Given the description of an element on the screen output the (x, y) to click on. 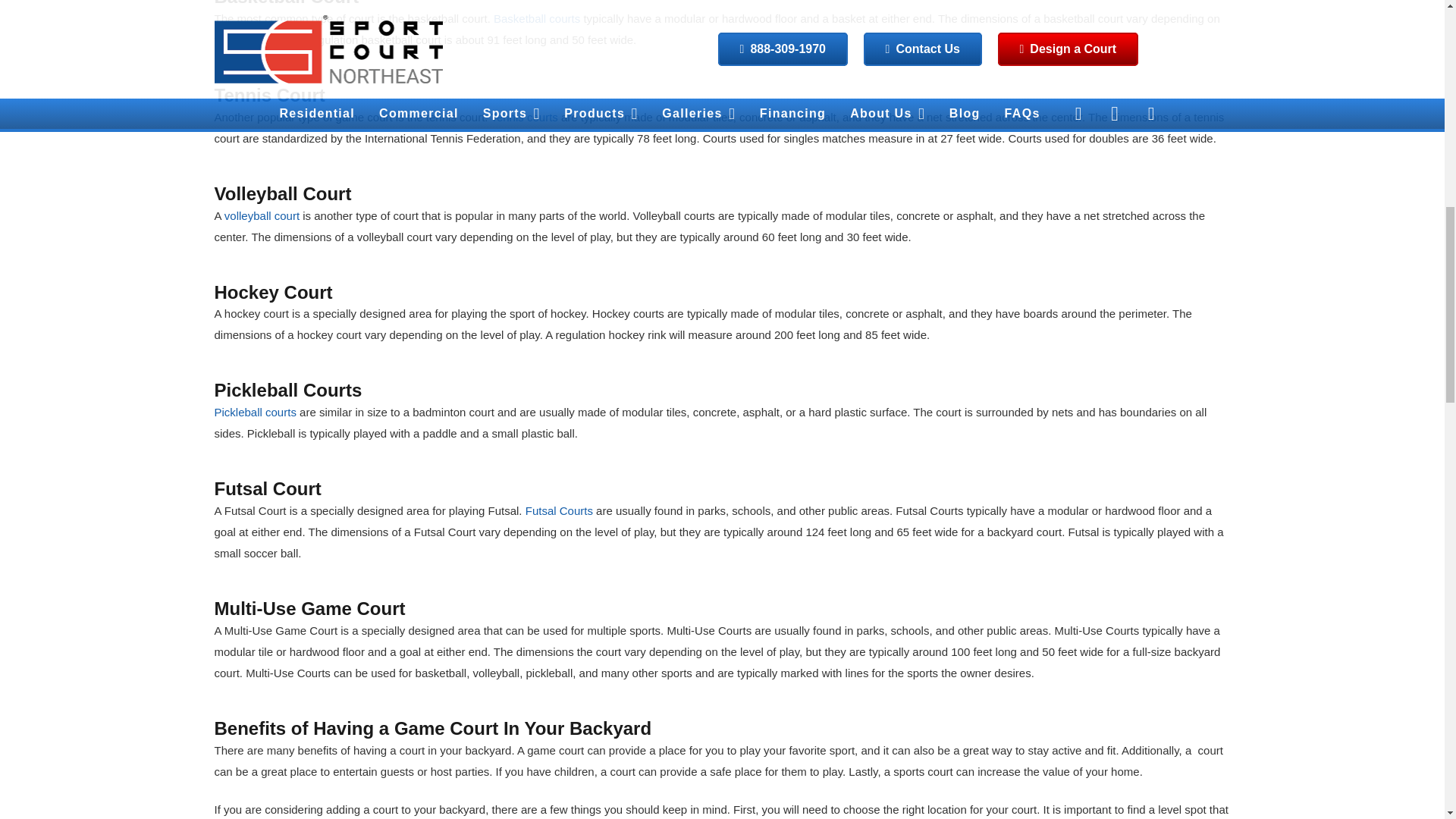
Back to top (1413, 26)
